Given the description of an element on the screen output the (x, y) to click on. 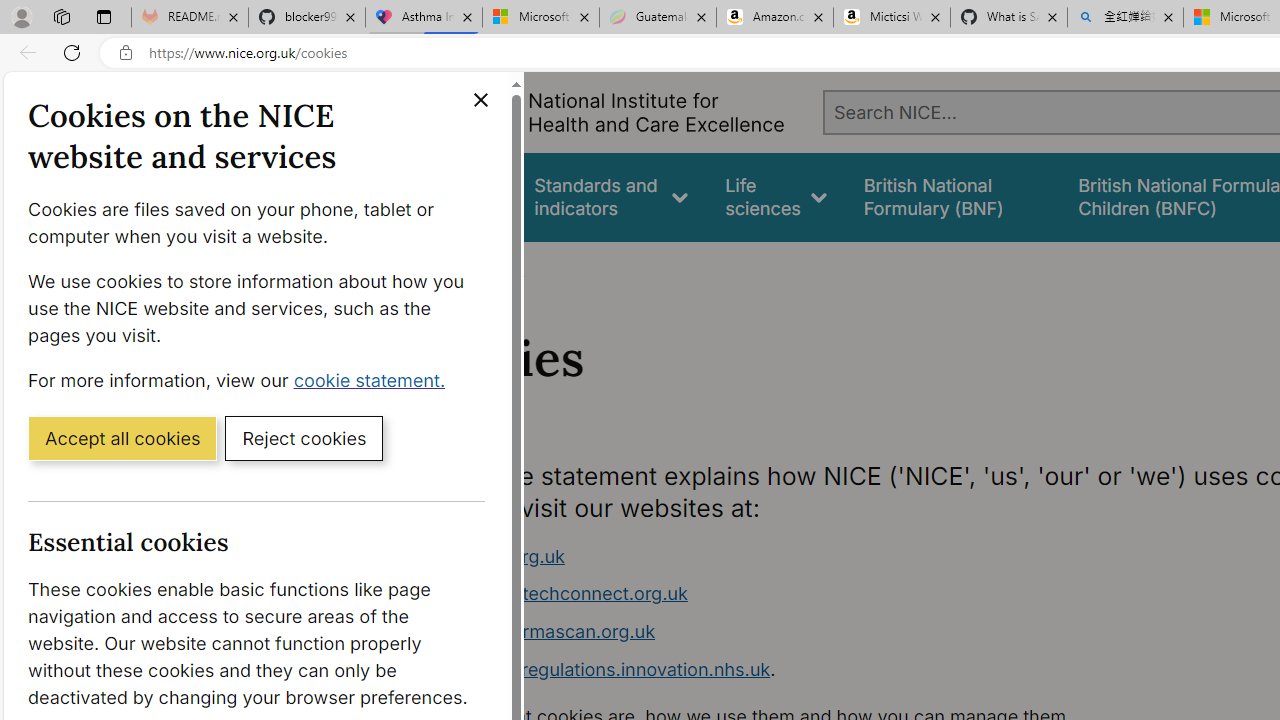
www.ukpharmascan.org.uk (796, 632)
cookie statement. (Opens in a new window) (373, 379)
Asthma Inhalers: Names and Types (424, 17)
www.healthtechconnect.org.uk (796, 594)
www.nice.org.uk (492, 556)
www.digitalregulations.innovation.nhs.uk (595, 668)
Life sciences (776, 196)
